Given the description of an element on the screen output the (x, y) to click on. 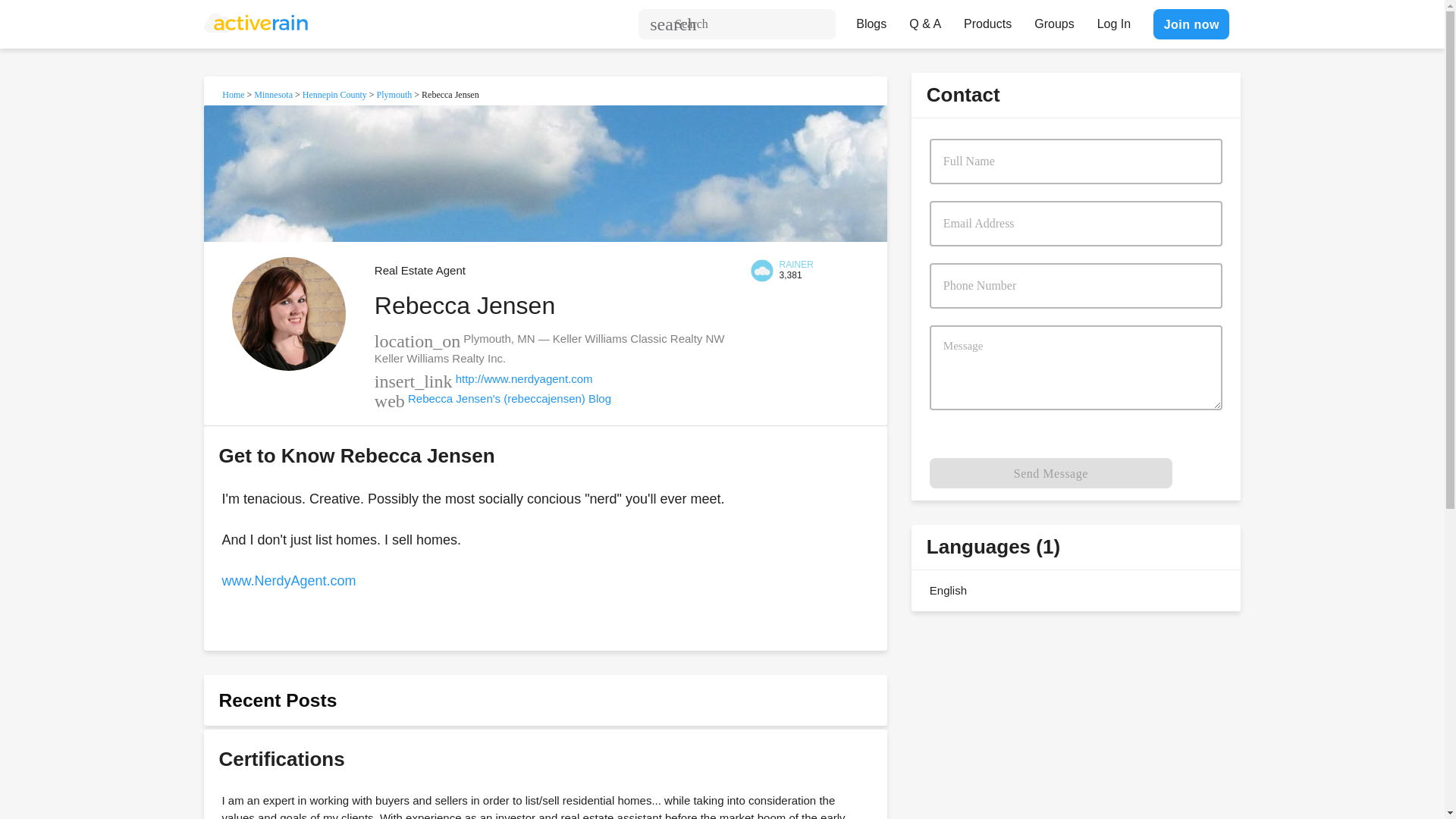
Blogs (870, 19)
Log In (1113, 19)
Hennepin County (334, 94)
Minnesota (272, 94)
Products (986, 19)
www.NerdyAgent.com  (288, 580)
www.NerdyAgent.com (288, 580)
Send Message (1051, 472)
Plymouth (394, 94)
Recent Posts (277, 700)
Groups (1053, 19)
Join now (1190, 24)
Home (233, 94)
Send Message (1051, 472)
